Given the description of an element on the screen output the (x, y) to click on. 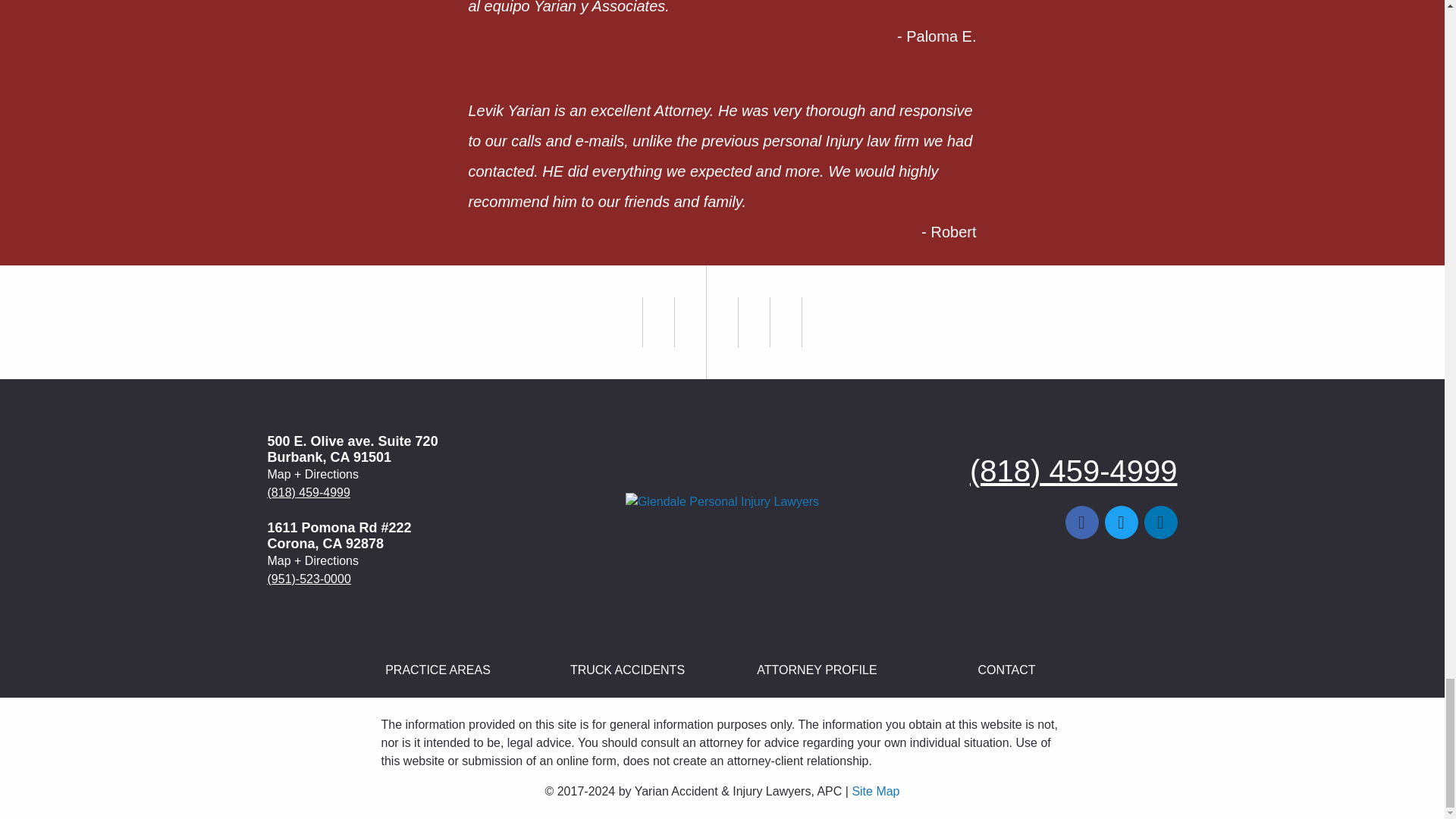
Glendale Personal Injury Law Firm (722, 502)
